Given the description of an element on the screen output the (x, y) to click on. 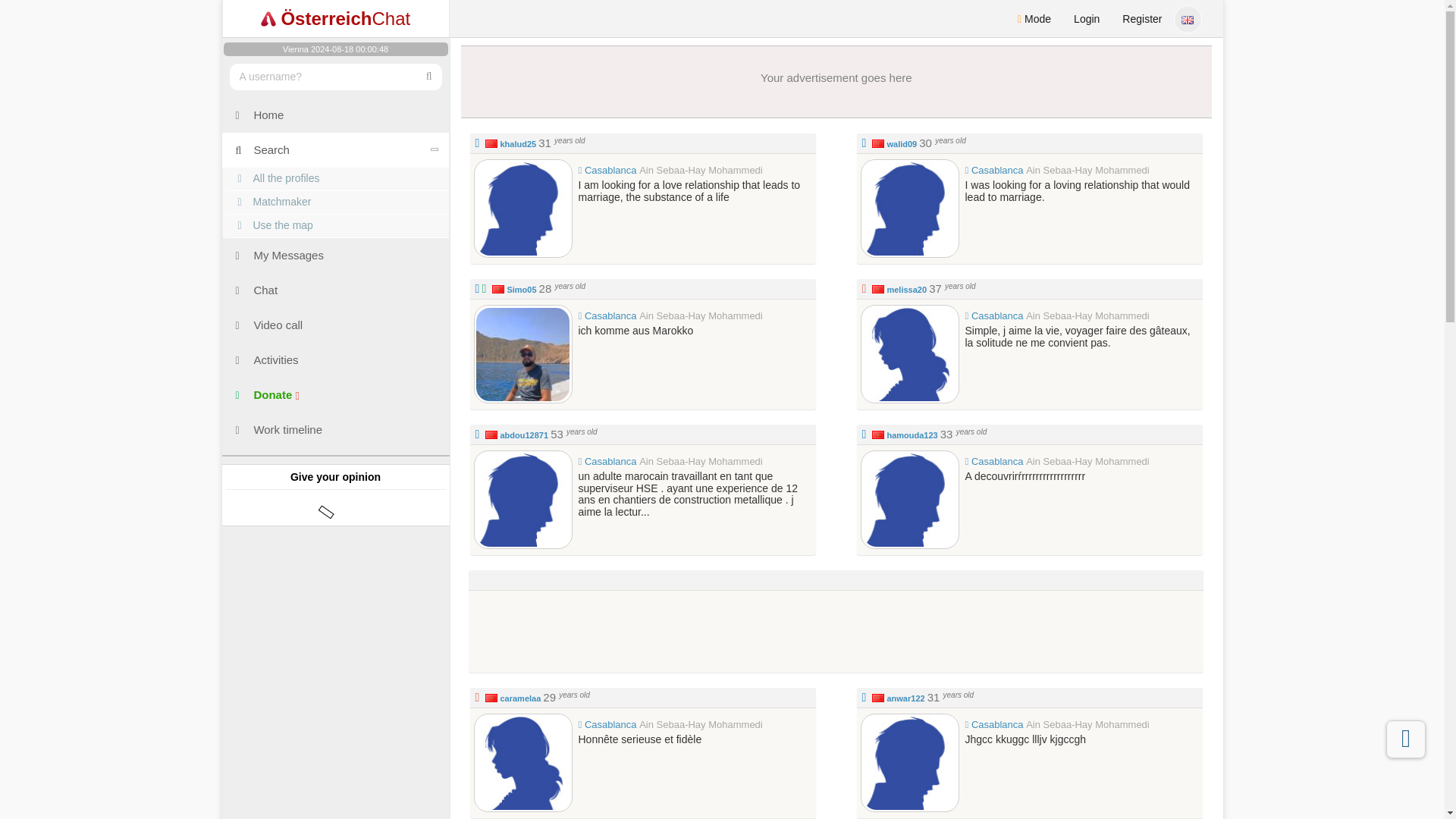
walid09 (901, 143)
country of residence Morocco (877, 434)
melissa20 (906, 289)
Languages (1192, 16)
Search (334, 149)
abdou12871 (523, 434)
promotionsites (334, 628)
Activities (334, 360)
My Messages (334, 255)
walid09 (909, 208)
